Given the description of an element on the screen output the (x, y) to click on. 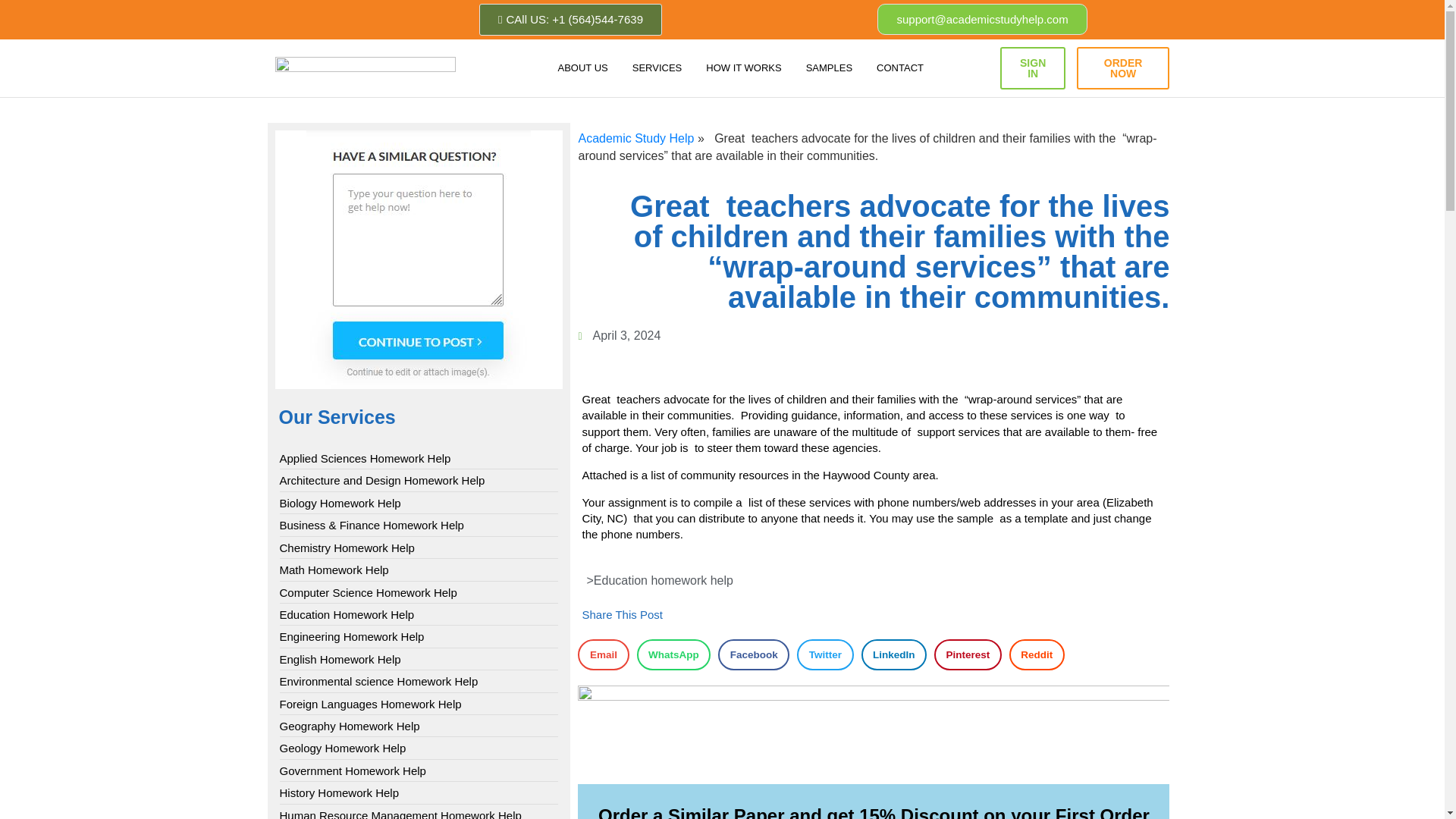
English Homework Help (339, 659)
History Homework Help (338, 792)
SERVICES (657, 67)
Geography Homework Help (349, 725)
ORDER NOW (1123, 67)
Architecture and Design Homework Help (381, 480)
Math Homework Help (333, 569)
Government Homework Help (352, 770)
Education Homework Help (346, 614)
ABOUT US (583, 67)
Foreign Languages Homework Help (370, 703)
Biology Homework Help (339, 503)
HOW IT WORKS (743, 67)
Engineering Homework Help (351, 636)
CONTACT (900, 67)
